Given the description of an element on the screen output the (x, y) to click on. 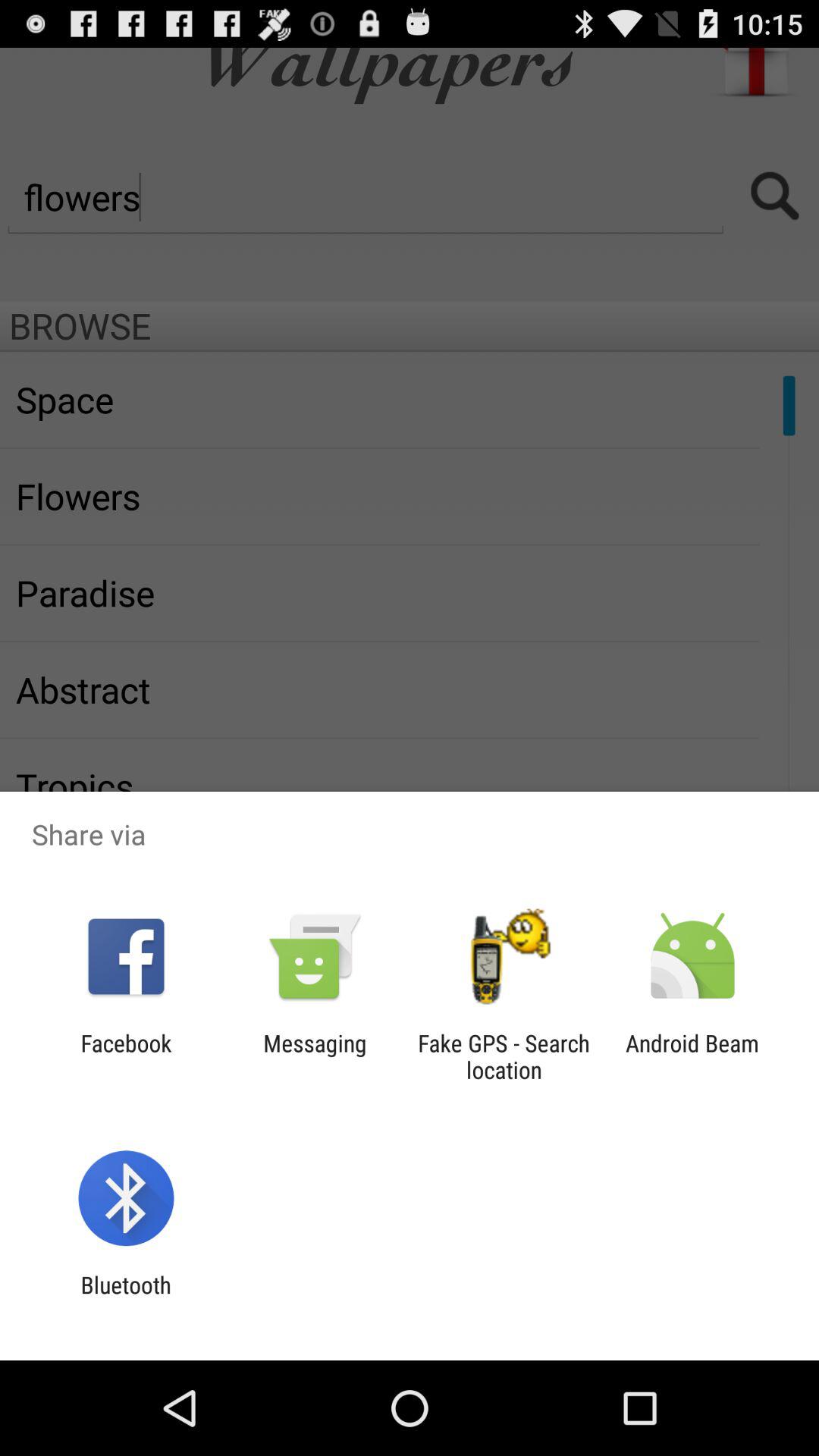
flip until the facebook app (125, 1056)
